Given the description of an element on the screen output the (x, y) to click on. 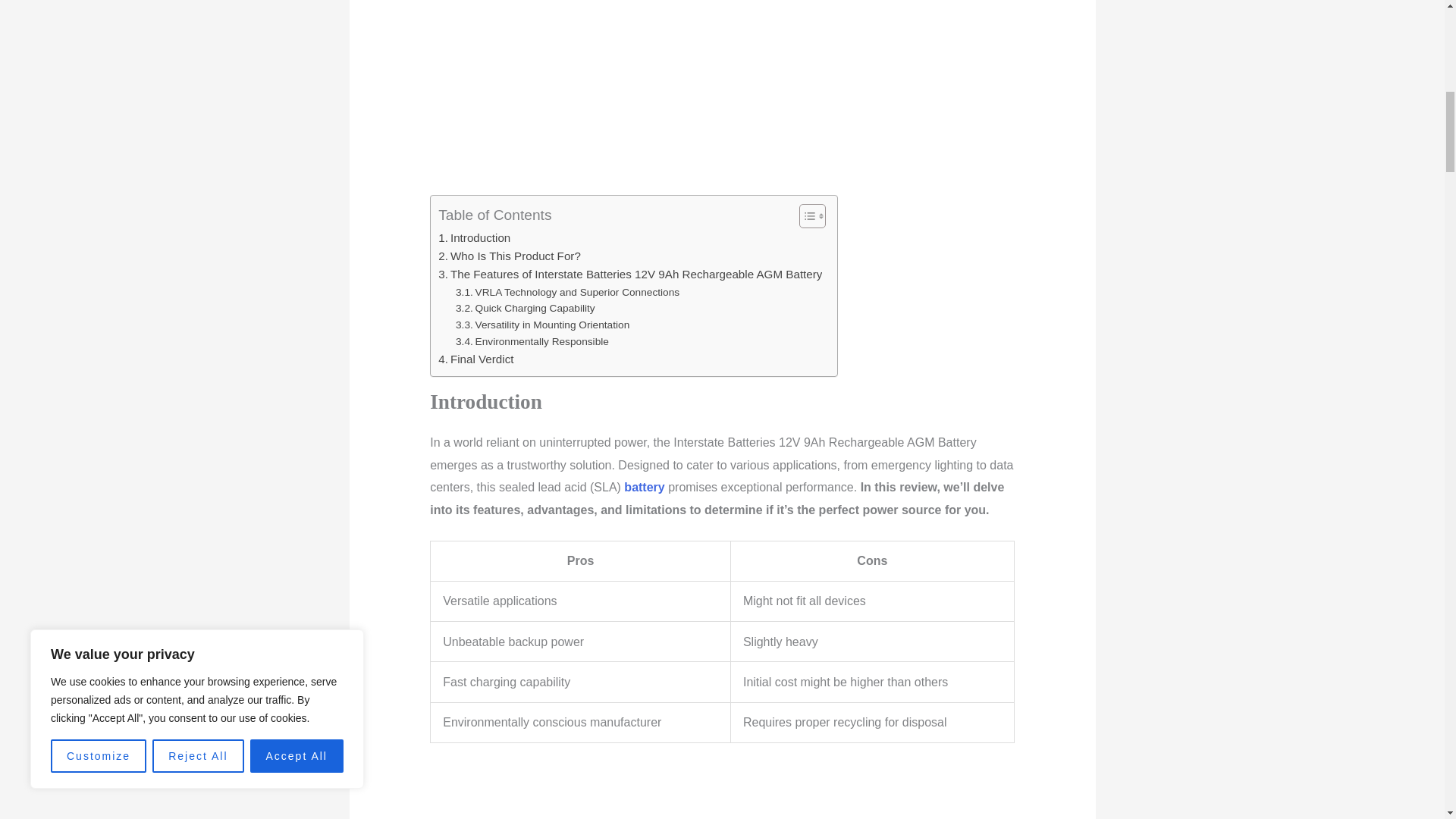
Environmentally Responsible (531, 341)
Introduction (474, 238)
Who Is This Product For? (509, 256)
Who Is This Product For? (509, 256)
Versatility in Mounting Orientation (541, 324)
Final Verdict (475, 359)
Introduction (474, 238)
Environmentally Responsible (531, 341)
Versatility in Mounting Orientation (541, 324)
Quick Charging Capability (525, 308)
VRLA Technology and Superior Connections (567, 292)
Advertisement (721, 97)
VRLA Technology and Superior Connections (567, 292)
